Given the description of an element on the screen output the (x, y) to click on. 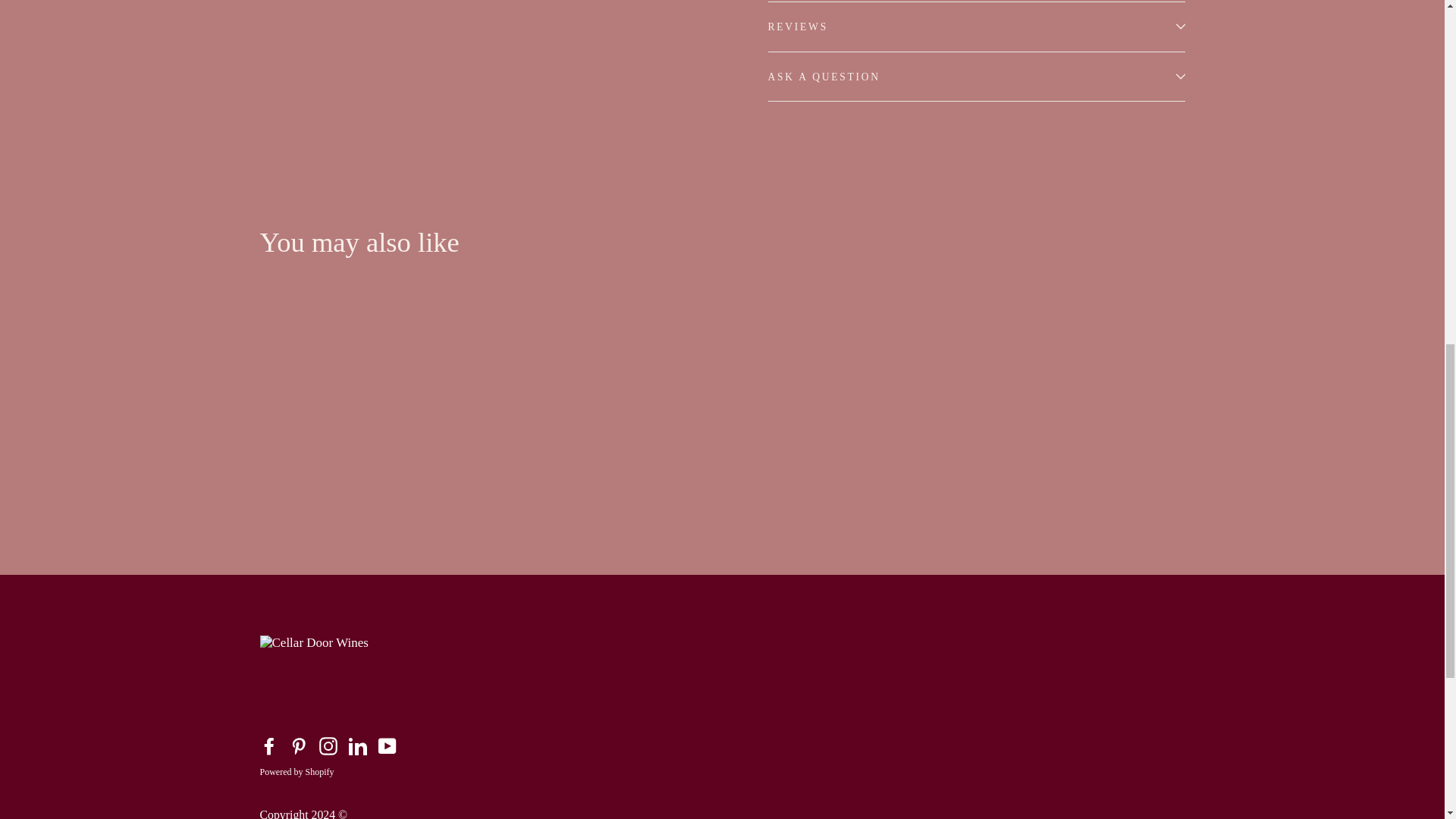
Cellar Door Wines on Pinterest (298, 746)
Cellar Door Wines on Facebook (268, 746)
Cellar Door Wines on LinkedIn (357, 746)
Cellar Door Wines on YouTube (386, 746)
Cellar Door Wines on Instagram (327, 746)
